Given the description of an element on the screen output the (x, y) to click on. 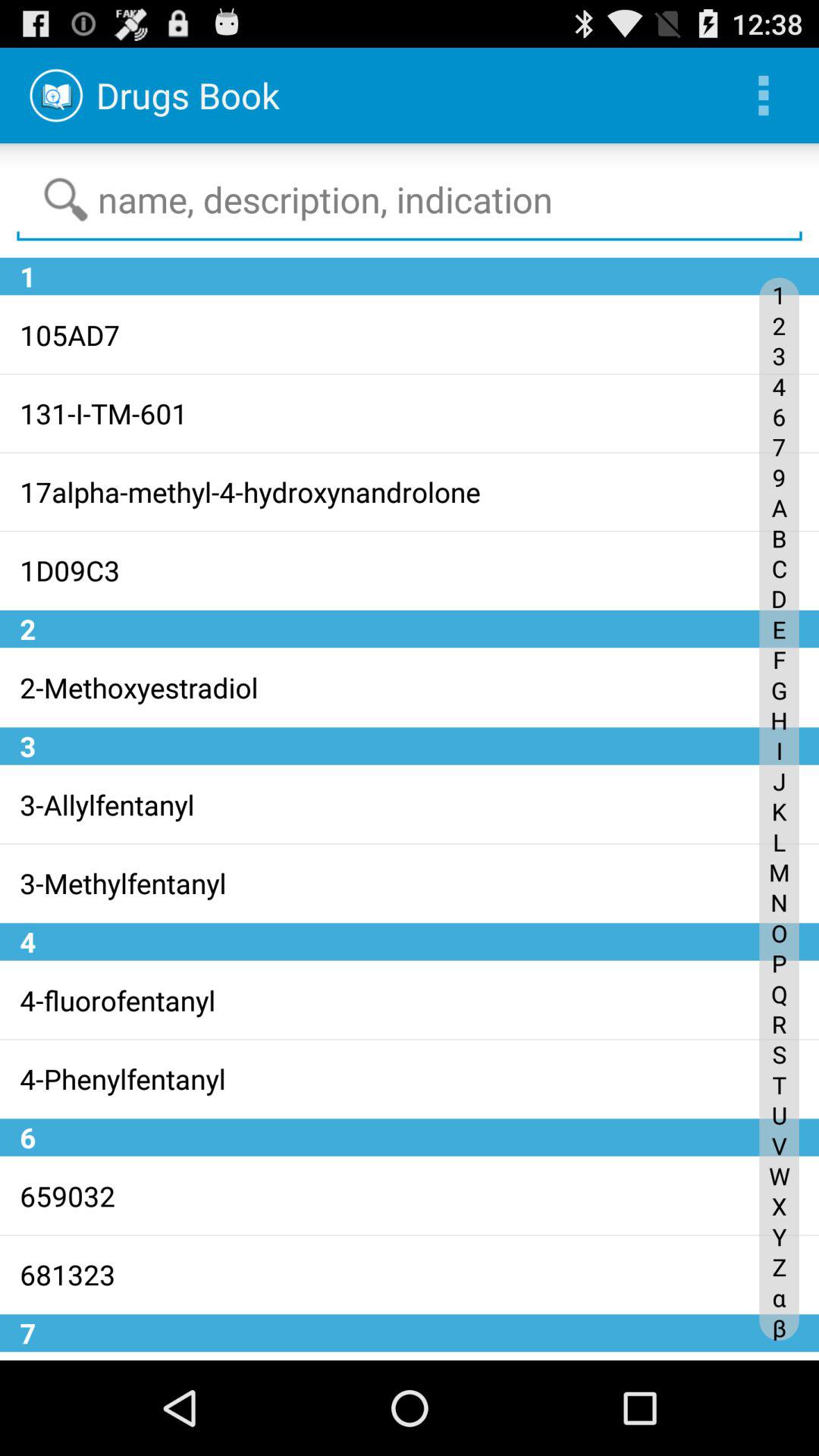
search option (409, 200)
